Given the description of an element on the screen output the (x, y) to click on. 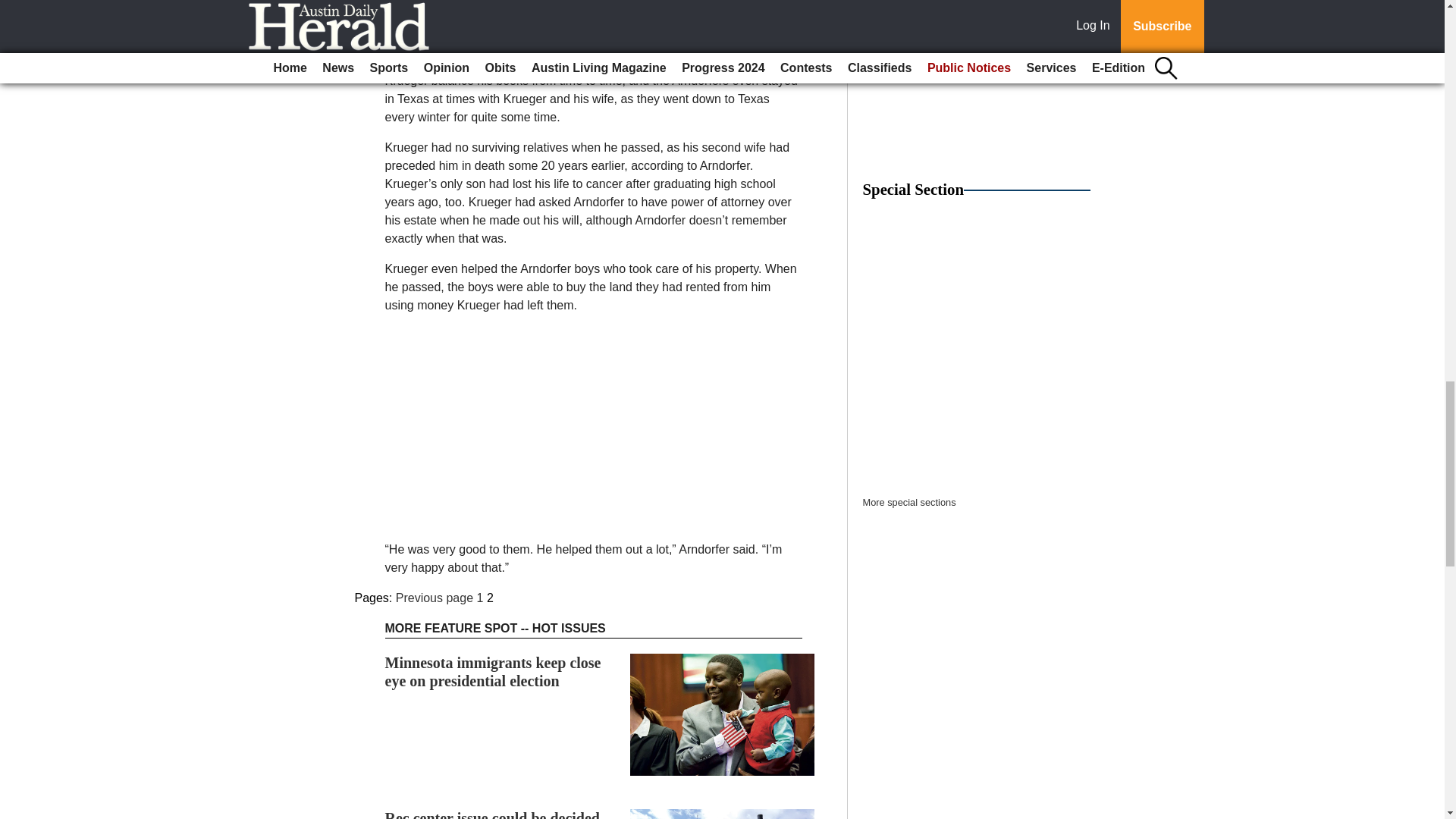
Rec center issue could be decided Monday (492, 814)
